Given the description of an element on the screen output the (x, y) to click on. 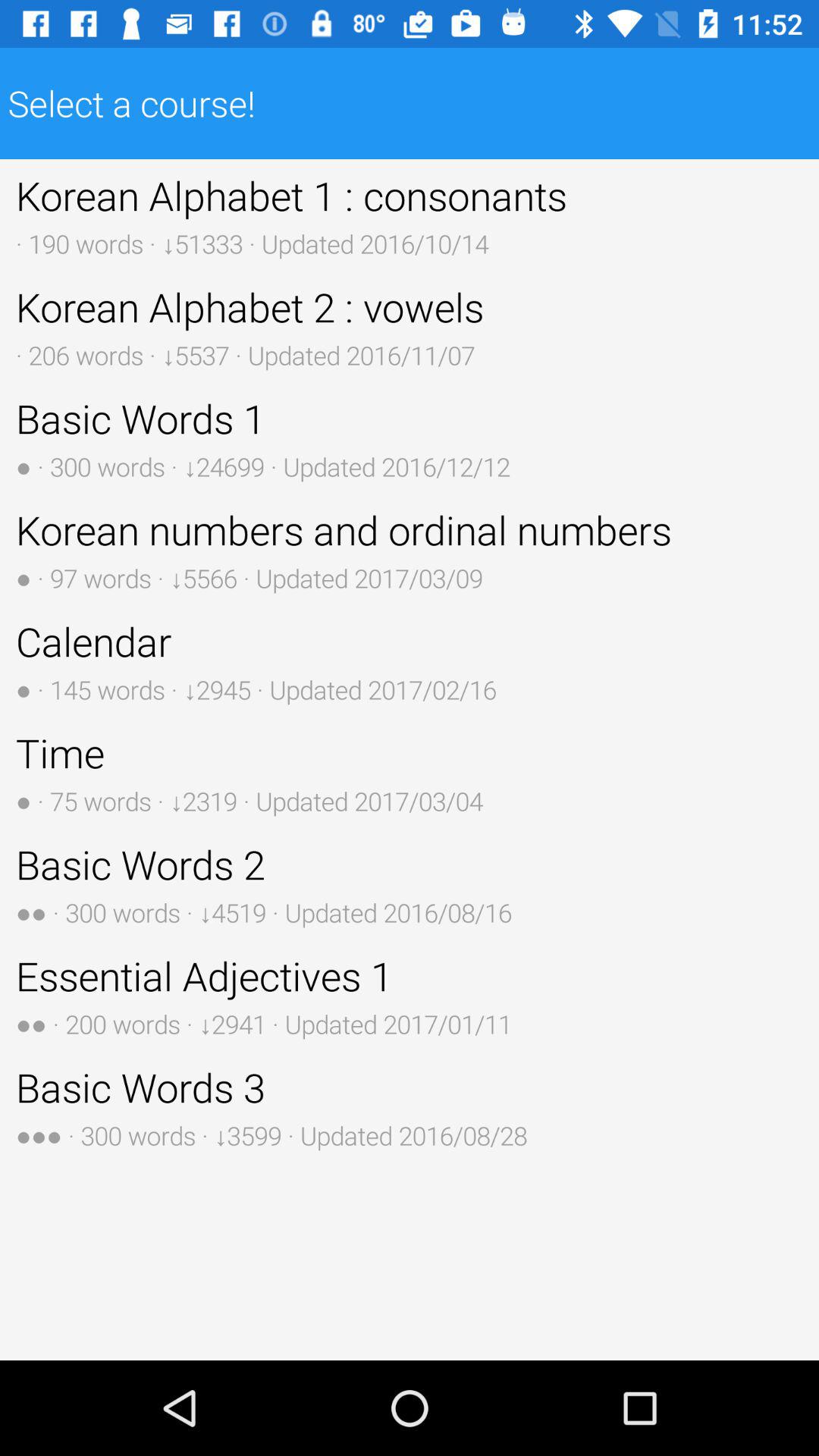
jump to the calendar 145 words (409, 660)
